Given the description of an element on the screen output the (x, y) to click on. 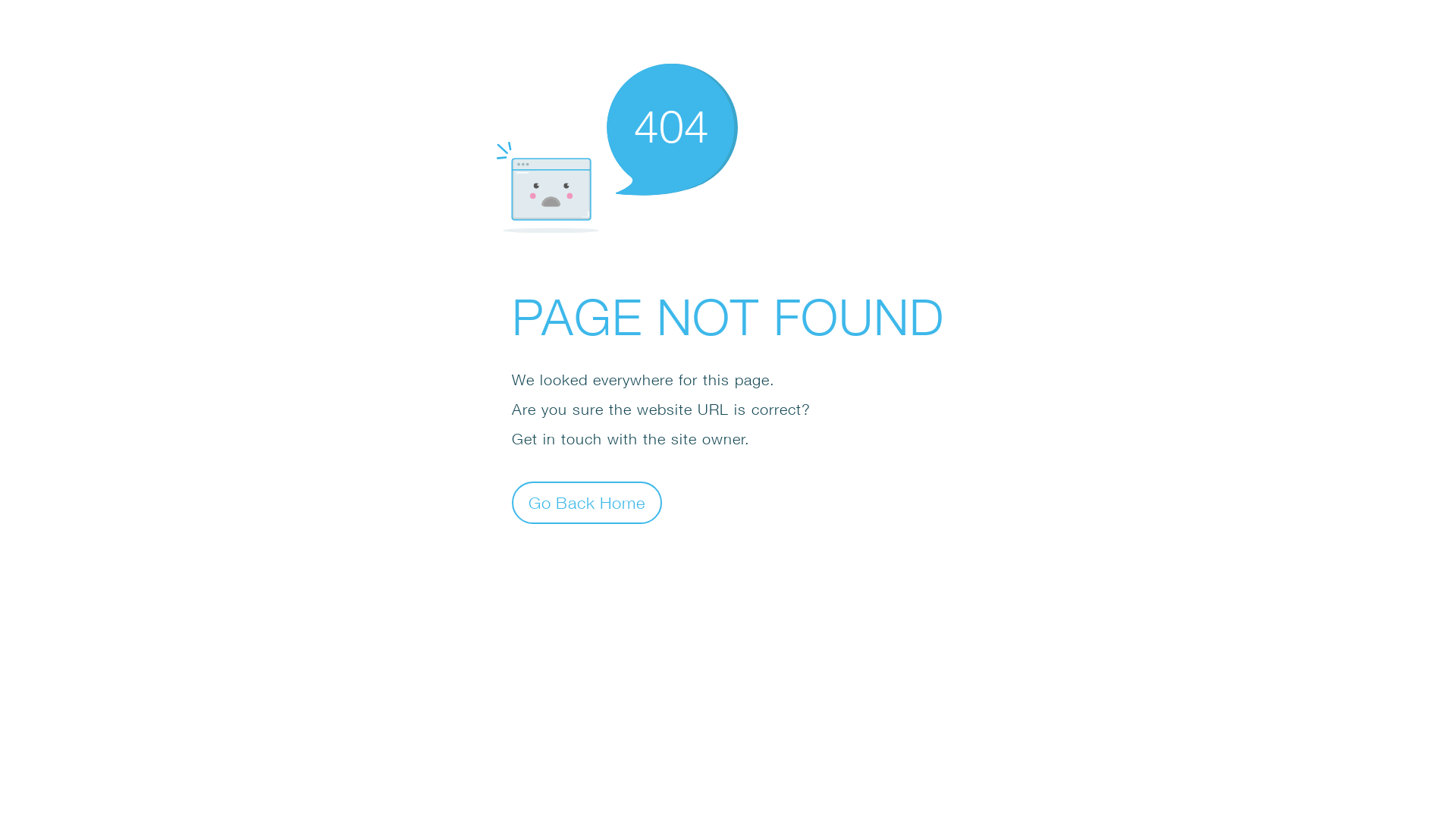
Go Back Home Element type: text (586, 502)
